Given the description of an element on the screen output the (x, y) to click on. 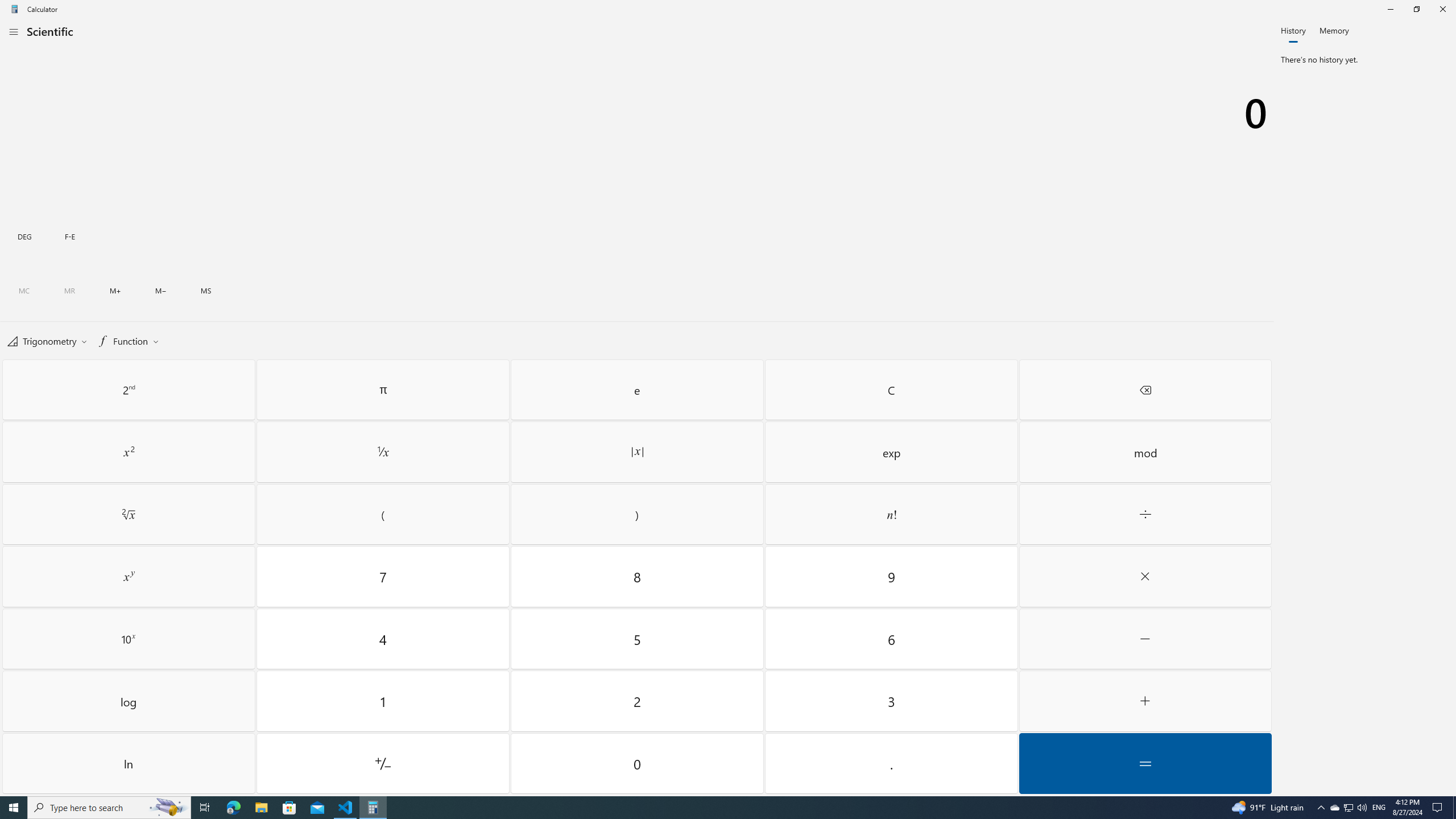
Reciprocal (382, 452)
User Promoted Notification Area (1347, 807)
File Explorer (261, 807)
Divide by (1145, 514)
Type here to search (108, 807)
Action Center, No new notifications (1439, 807)
Right parenthesis (637, 514)
Three (890, 701)
Absolute value (637, 452)
'X' to the exponent (128, 576)
Q2790: 100% (1361, 807)
Functions (127, 340)
Task View (204, 807)
Eight (637, 576)
Decimal separator (890, 763)
